Given the description of an element on the screen output the (x, y) to click on. 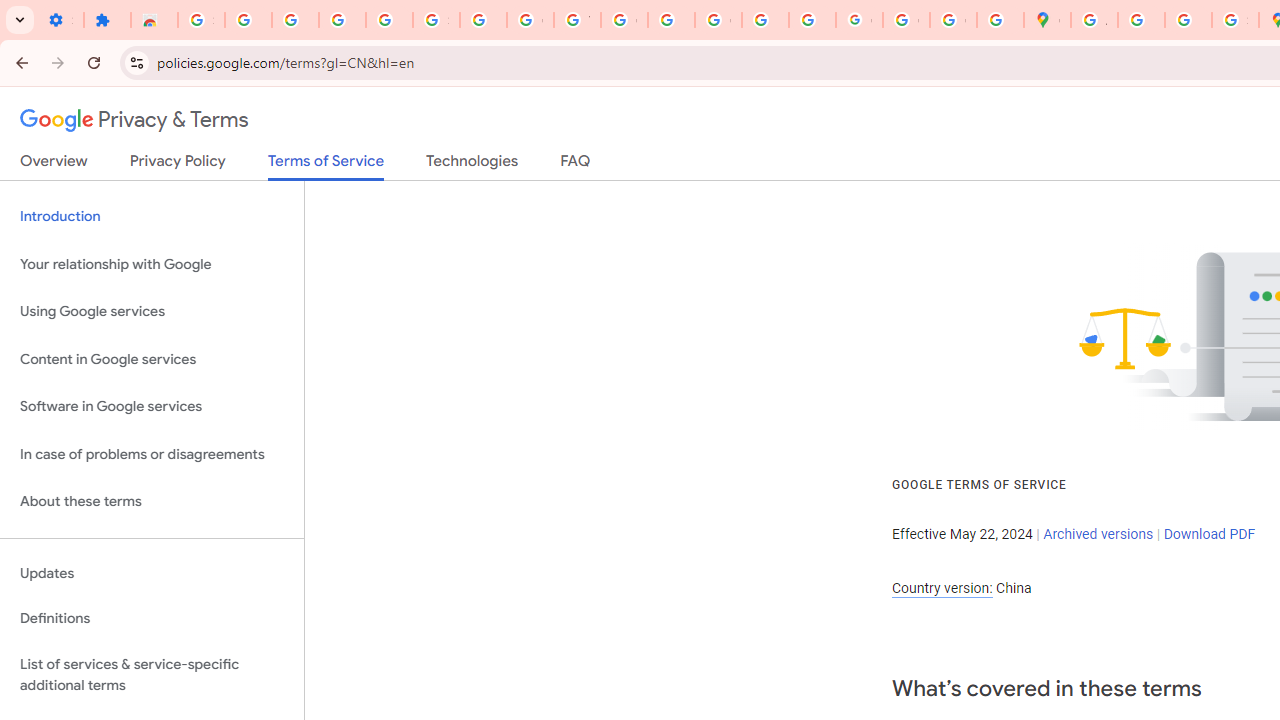
About these terms (152, 502)
Delete photos & videos - Computer - Google Photos Help (294, 20)
Sign in - Google Accounts (201, 20)
